Given the description of an element on the screen output the (x, y) to click on. 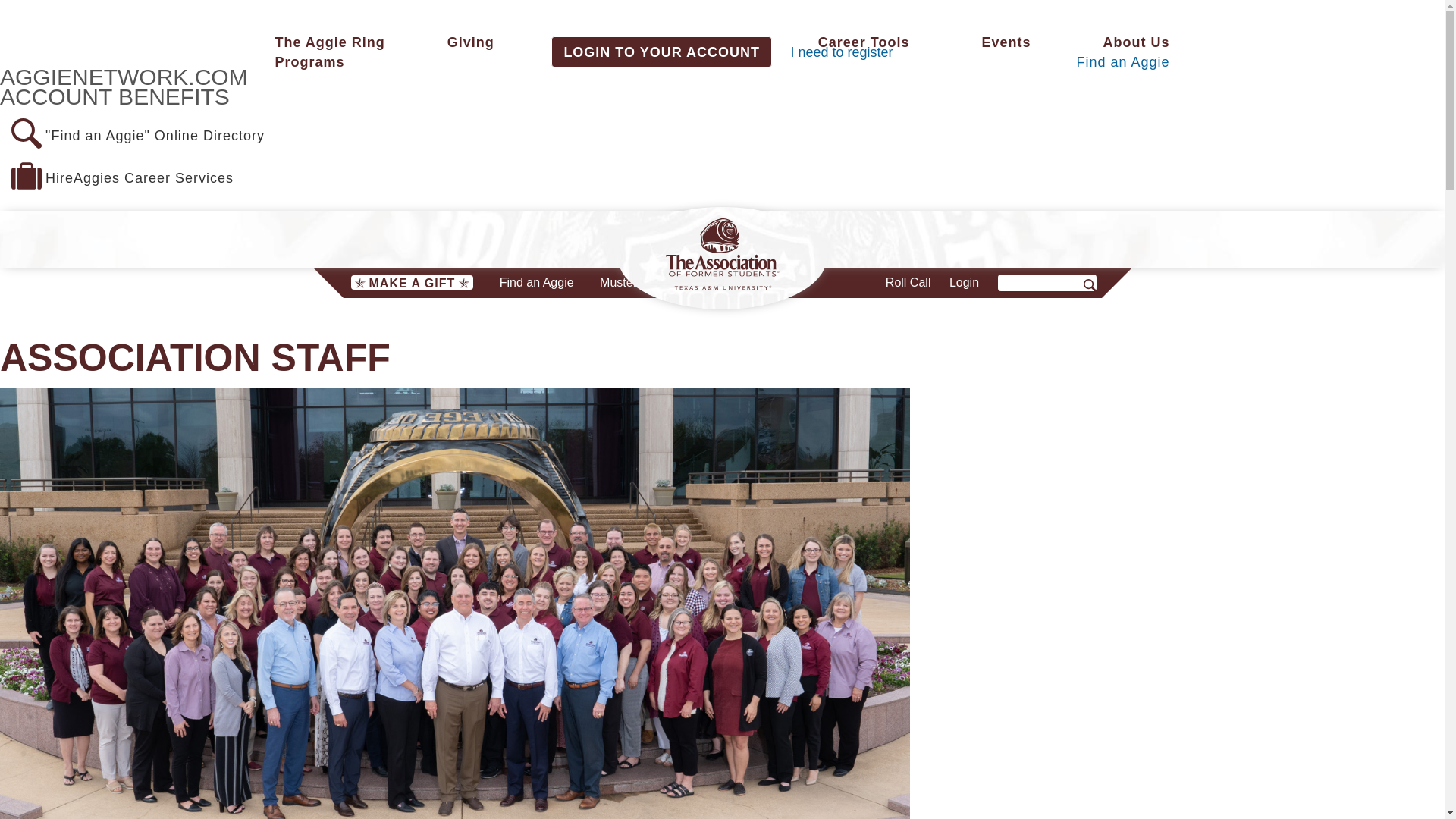
Association Logo. Nav To Home (721, 253)
